Given the description of an element on the screen output the (x, y) to click on. 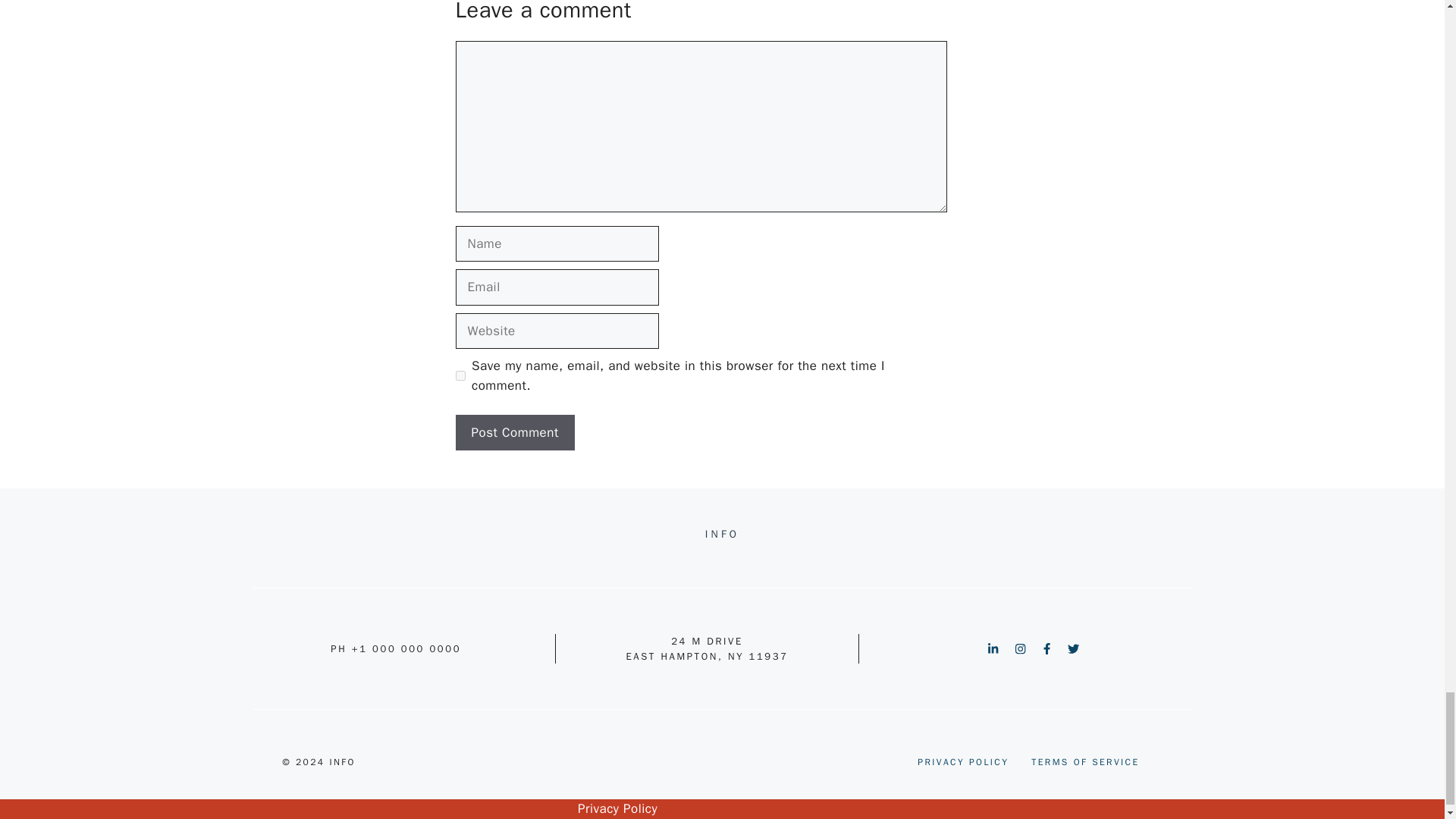
Post Comment (513, 432)
Post Comment (513, 432)
TERMS OF SERVICE (1084, 762)
yes (459, 375)
PRIVACY POLICY (963, 762)
Privacy Policy (618, 808)
